Given the description of an element on the screen output the (x, y) to click on. 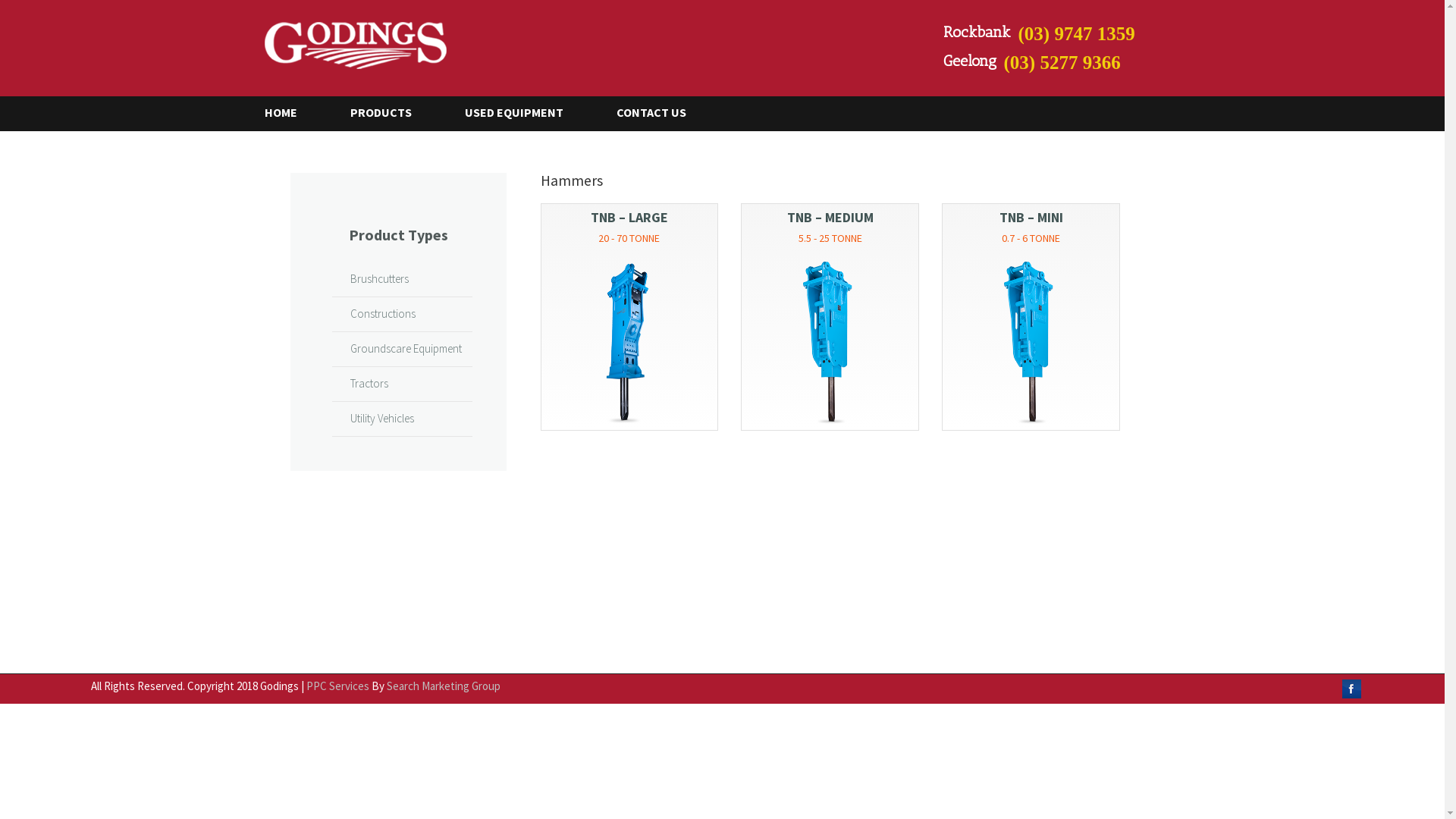
Constructions Element type: text (376, 314)
Brushcutters Element type: text (373, 279)
Search Marketing Group Element type: text (443, 685)
HOME Element type: text (294, 112)
(03) 9747 1359 Element type: text (1112, 33)
Tractors Element type: text (363, 383)
USED EQUIPMENT Element type: text (528, 112)
Groundscare Equipment Element type: text (399, 348)
PRODUCTS Element type: text (396, 112)
Utility Vehicles Element type: text (376, 418)
CONTACT US Element type: text (665, 112)
(03) 5277 9366 Element type: text (1098, 62)
PPC Services Element type: text (338, 685)
